Given the description of an element on the screen output the (x, y) to click on. 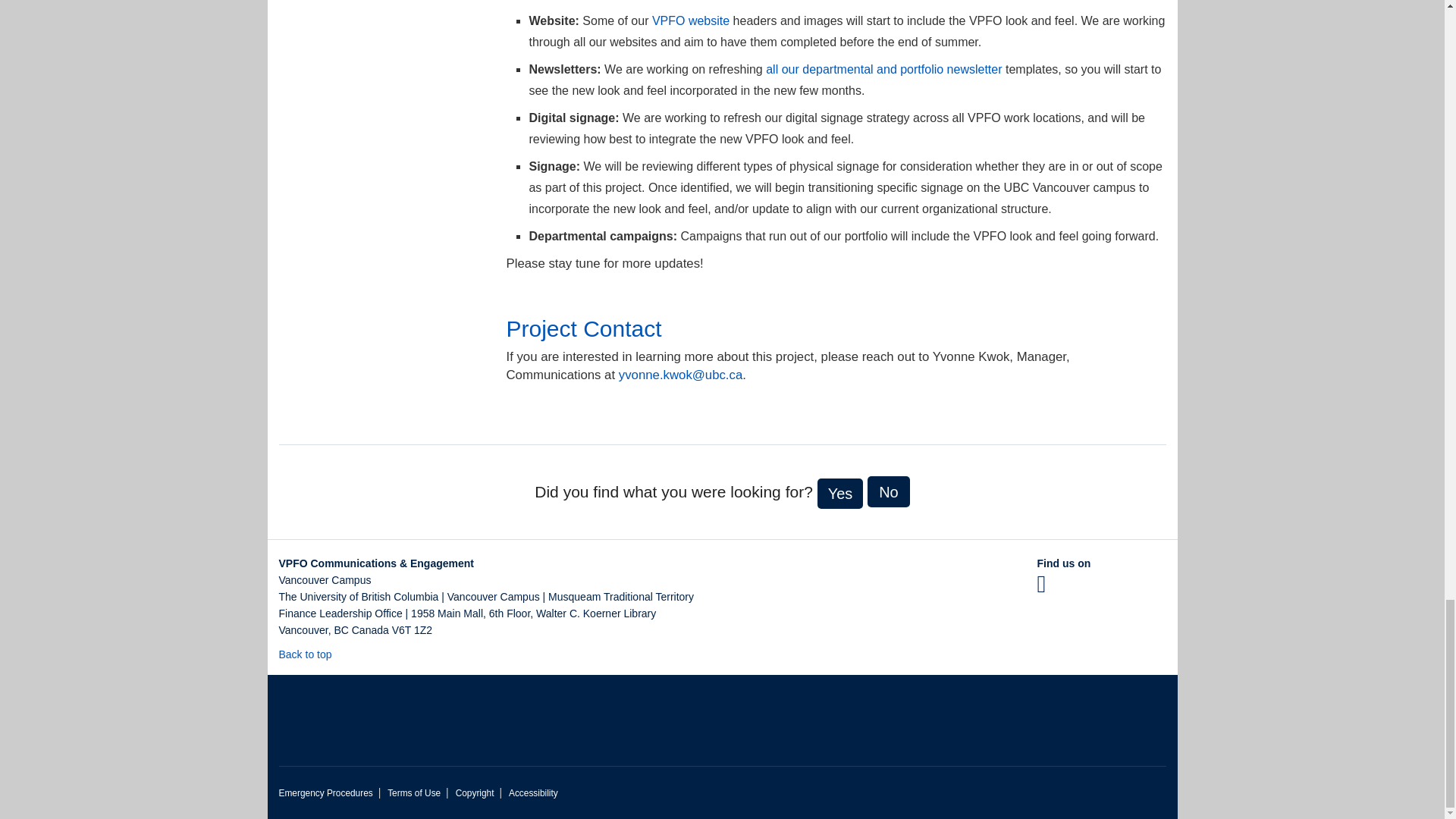
Terms of Use (414, 792)
Emergency Procedures (325, 792)
UBC Copyright (475, 792)
Accessibility (532, 792)
Back to top (312, 654)
